Given the description of an element on the screen output the (x, y) to click on. 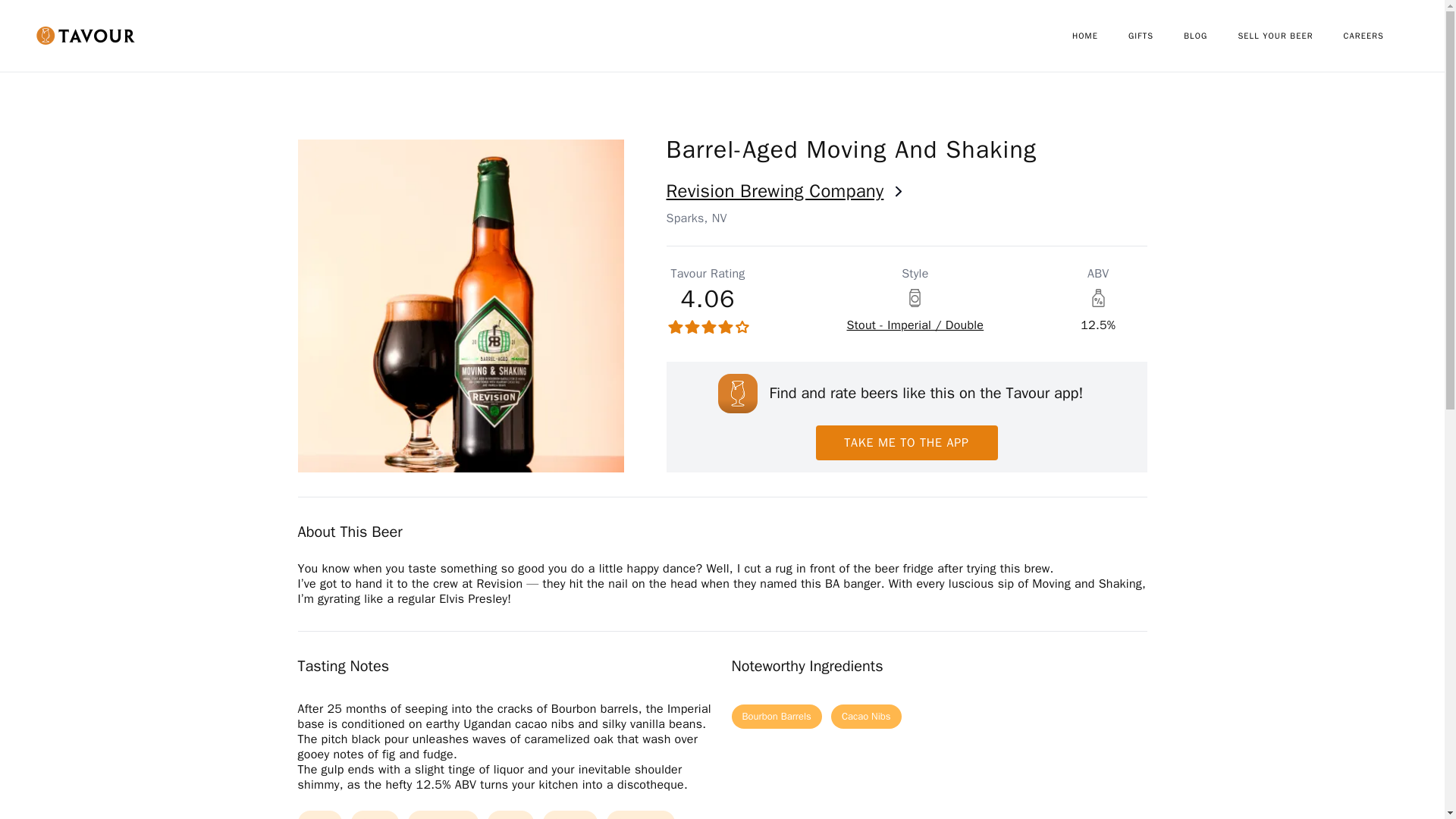
careers (1378, 35)
HOME (1099, 35)
gifts (1155, 35)
Revision Brewing Company (906, 191)
BLOG (1210, 35)
sell your beer (1289, 35)
CAREERS (1378, 35)
blog (1210, 35)
GIFTS (1155, 35)
SELL YOUR BEER (1289, 35)
home (1099, 35)
TAKE ME TO THE APP (906, 442)
